Given the description of an element on the screen output the (x, y) to click on. 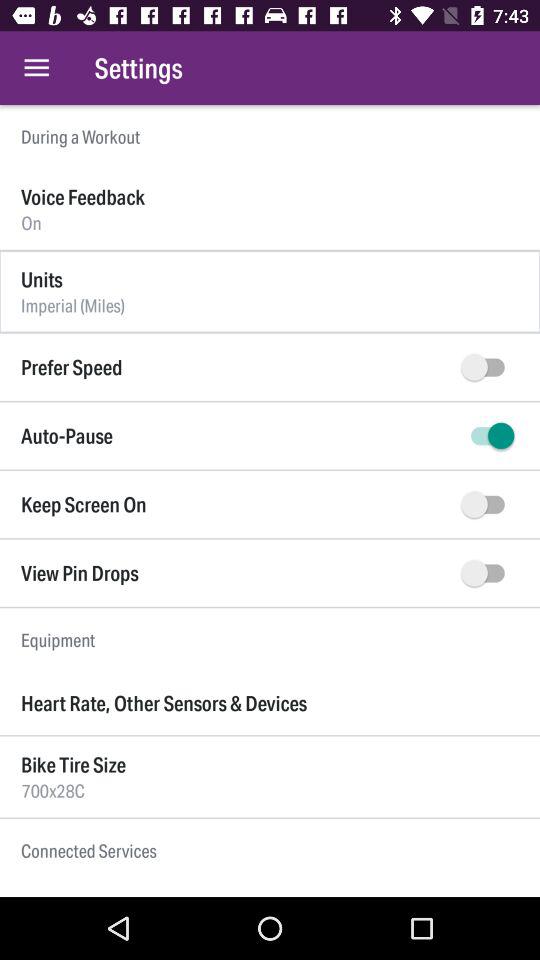
turn-off keepscreen on (487, 504)
